Given the description of an element on the screen output the (x, y) to click on. 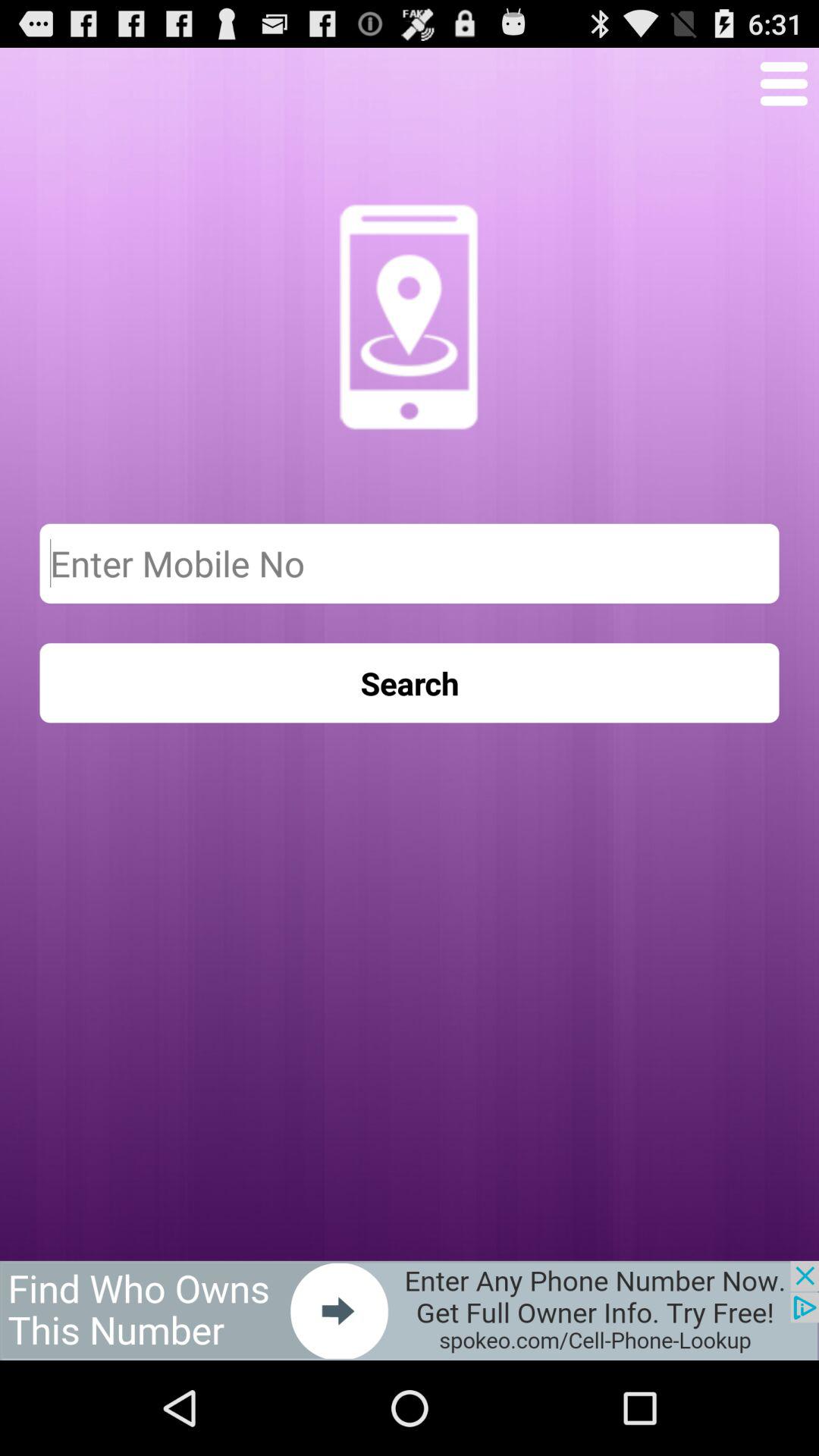
type phone number to login (409, 563)
